Given the description of an element on the screen output the (x, y) to click on. 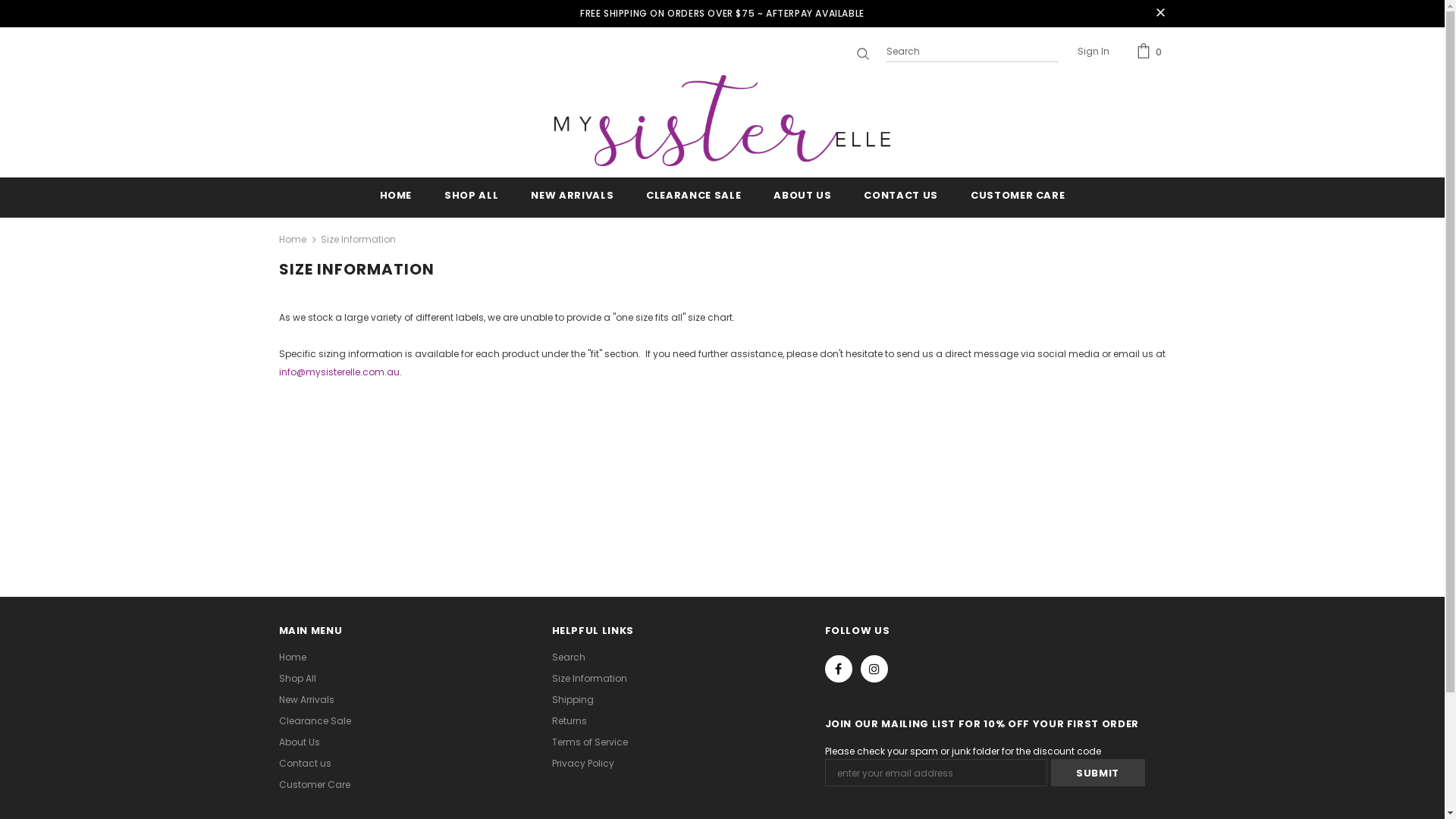
CUSTOMER CARE Element type: text (1017, 197)
HOME Element type: text (395, 197)
Shop All Element type: text (297, 678)
Contact us Element type: text (305, 763)
Home Element type: text (292, 239)
NEW ARRIVALS Element type: text (571, 197)
Submit Element type: text (1098, 772)
CLEARANCE SALE Element type: text (693, 197)
Privacy Policy Element type: text (583, 763)
New Arrivals Element type: text (306, 699)
SHOP ALL Element type: text (471, 197)
CONTACT US Element type: text (900, 197)
info@mysisterelle.com.au Element type: text (339, 371)
Facebook Element type: hover (838, 668)
About Us Element type: text (299, 742)
Shipping Element type: text (572, 699)
0 Element type: text (1150, 51)
Size Information Element type: text (589, 678)
Customer Care Element type: text (314, 784)
Home Element type: text (292, 657)
close Element type: hover (1159, 13)
Clearance Sale Element type: text (315, 720)
Returns Element type: text (569, 720)
Sign In Element type: text (1092, 51)
ABOUT US Element type: text (802, 197)
Search Element type: text (568, 657)
Logo Element type: hover (722, 120)
Terms of Service Element type: text (589, 742)
Instagram Element type: hover (873, 668)
